Given the description of an element on the screen output the (x, y) to click on. 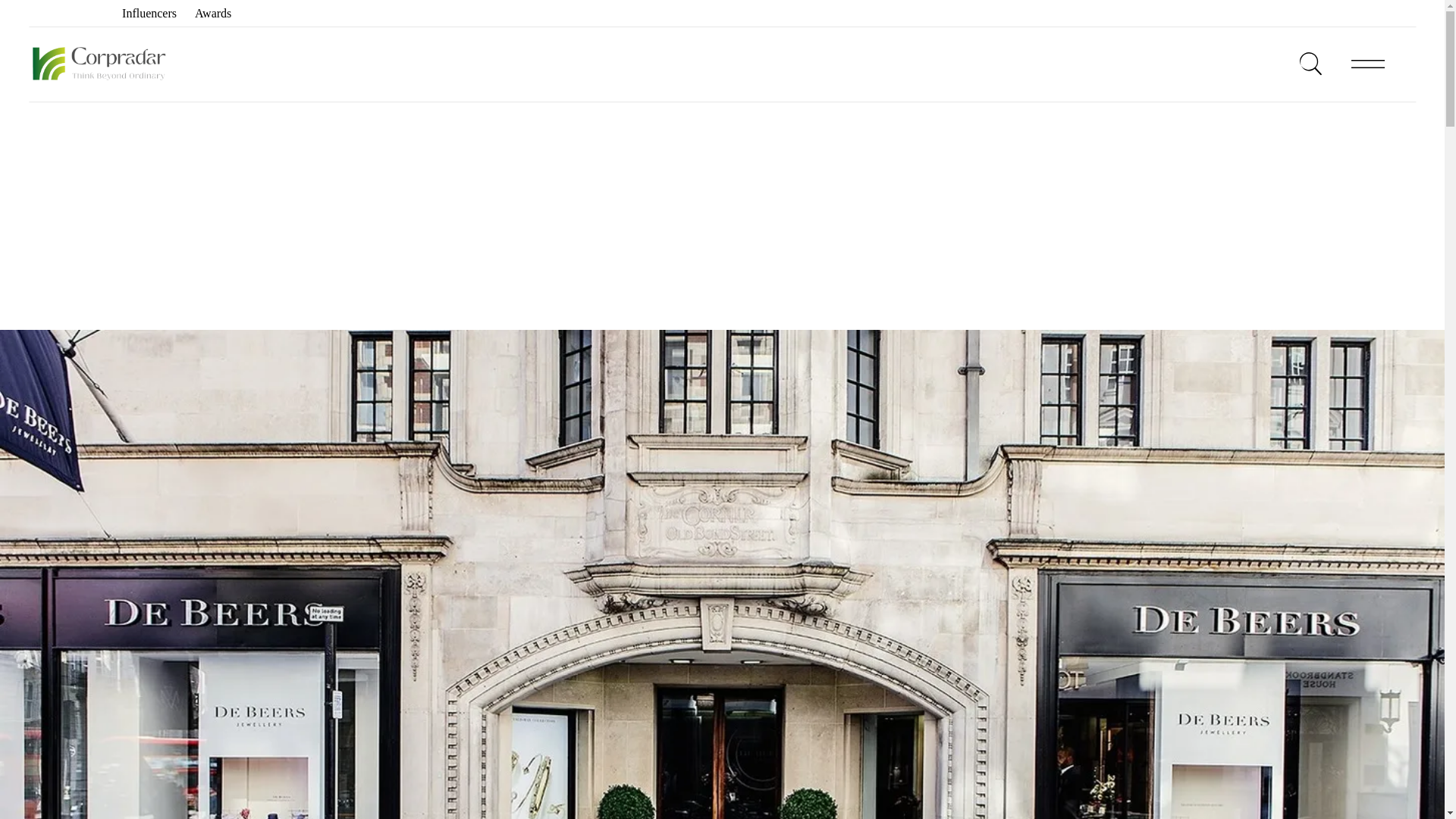
Brand Story (1255, 11)
A-Z Net Worth (66, 11)
Video (1399, 11)
